Given the description of an element on the screen output the (x, y) to click on. 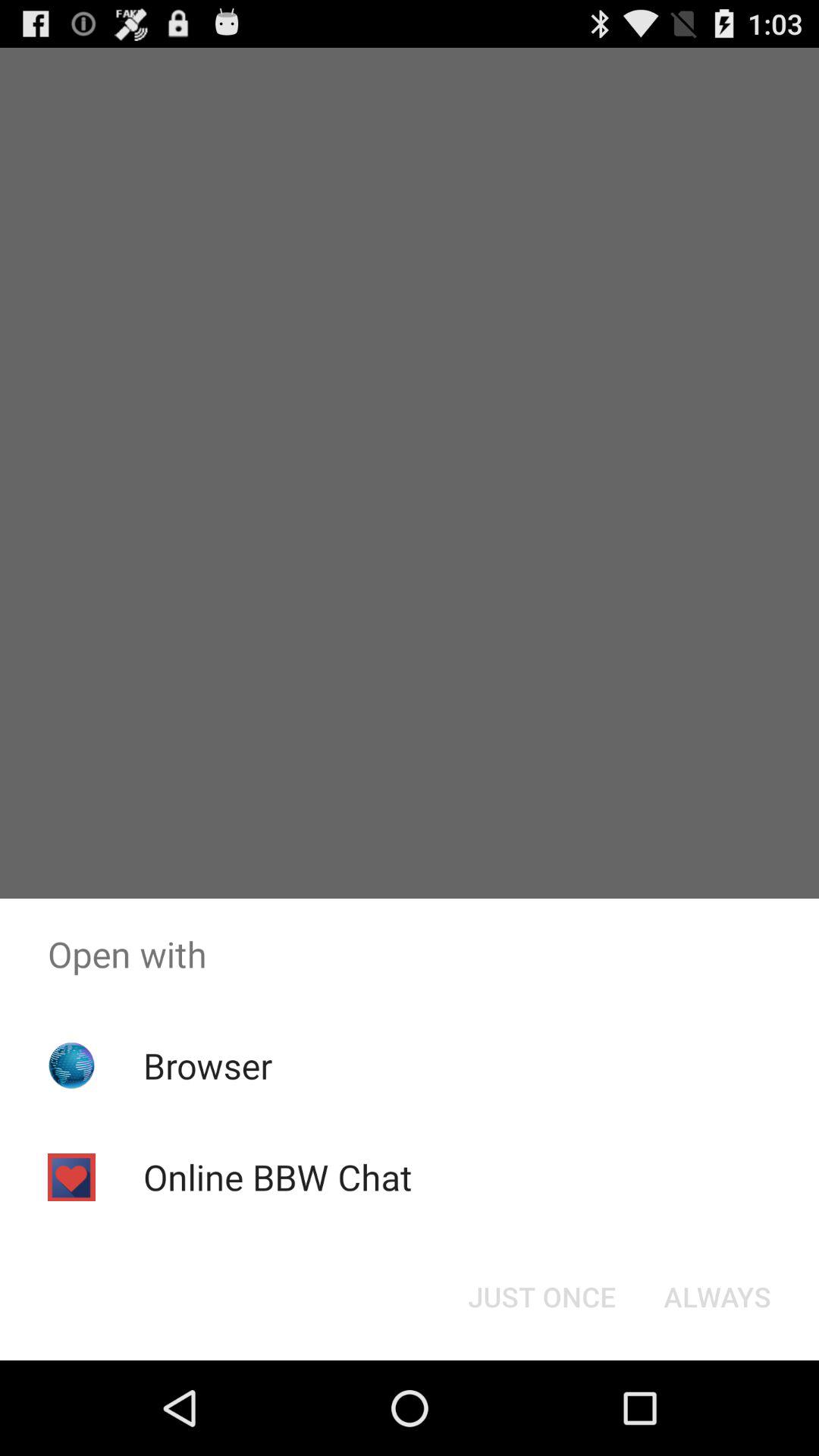
scroll to just once button (541, 1296)
